Given the description of an element on the screen output the (x, y) to click on. 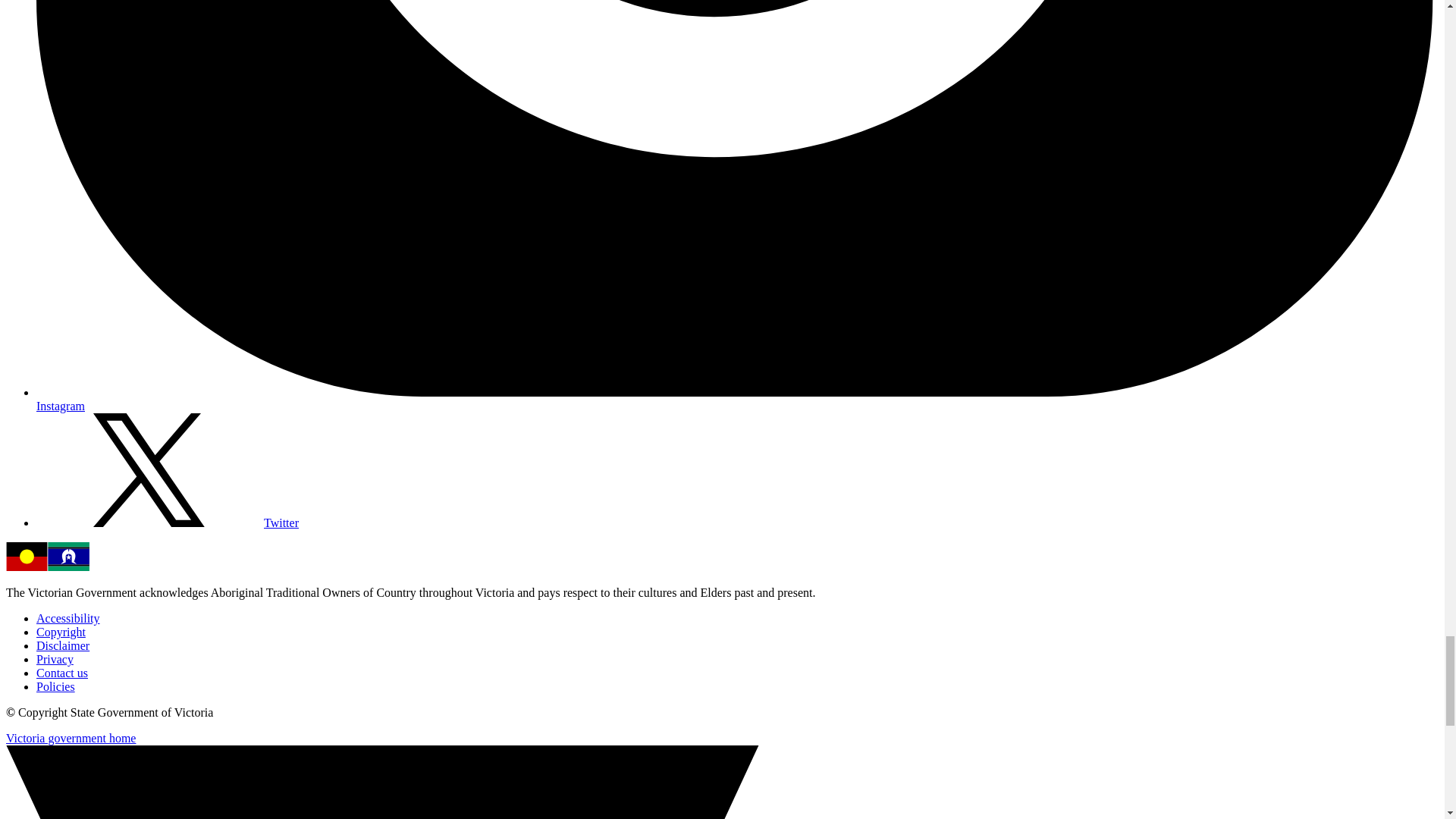
Twitter (167, 522)
Contact us (61, 672)
Privacy (55, 658)
Copyright (60, 631)
Disclaimer (62, 645)
Accessibility (68, 617)
Policies (55, 686)
